Given the description of an element on the screen output the (x, y) to click on. 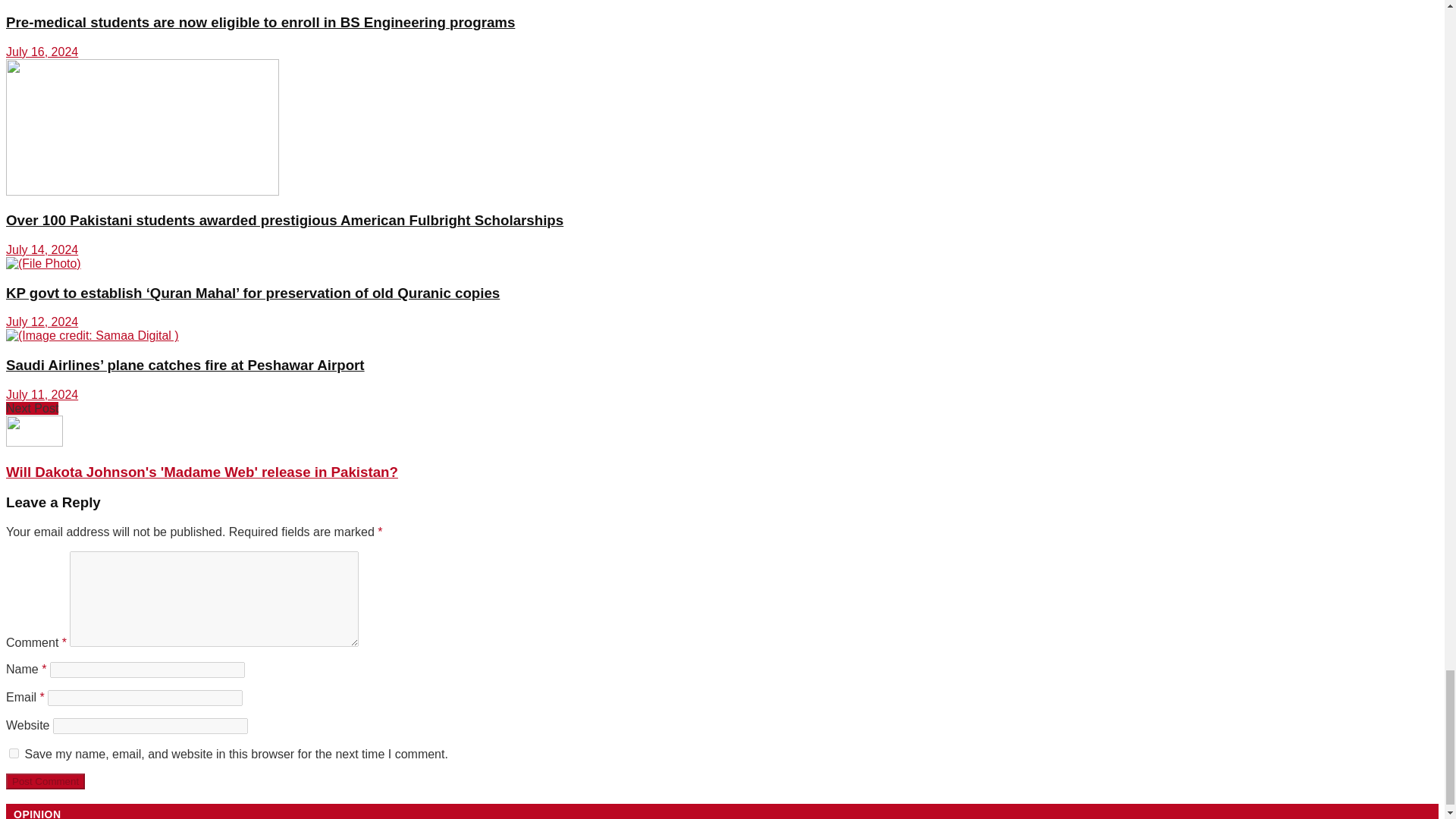
Post Comment (44, 781)
yes (13, 753)
